Given the description of an element on the screen output the (x, y) to click on. 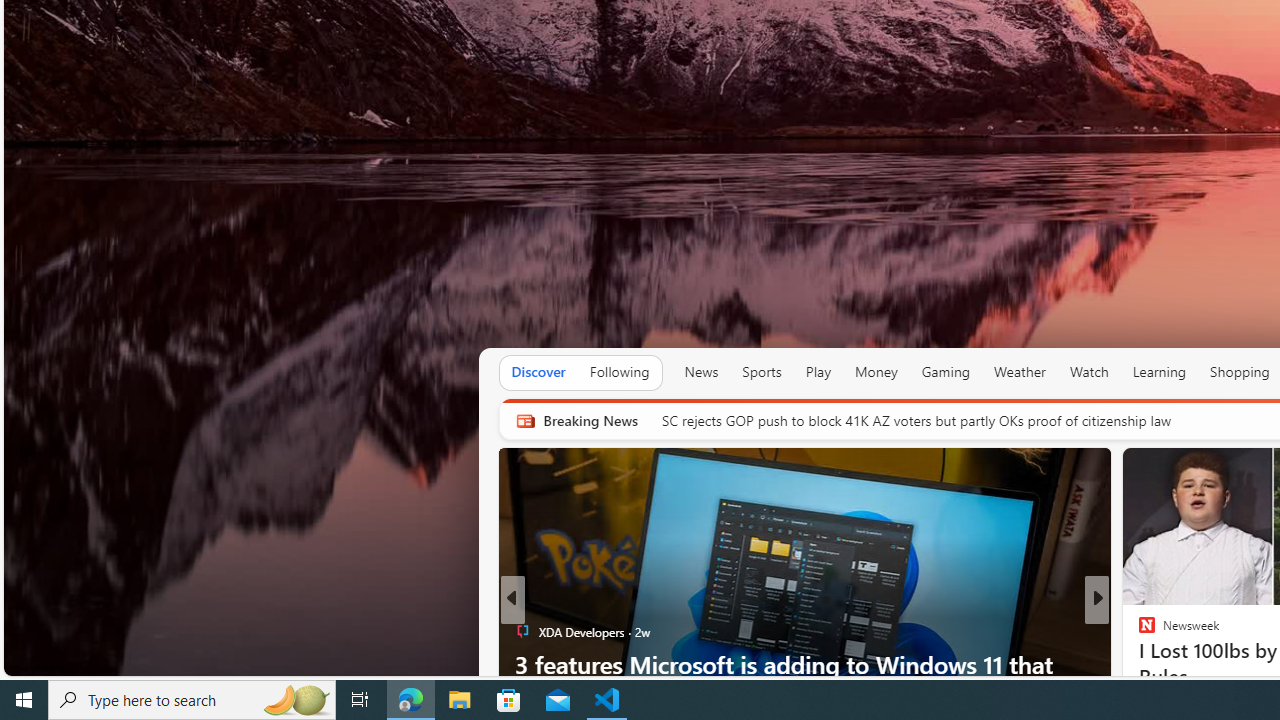
Play (817, 371)
Play (818, 372)
Shopping (1240, 371)
Inquirer (1138, 663)
Gaming (945, 372)
Sports (761, 372)
Gaming (945, 371)
The Telegraph (1138, 663)
